Given the description of an element on the screen output the (x, y) to click on. 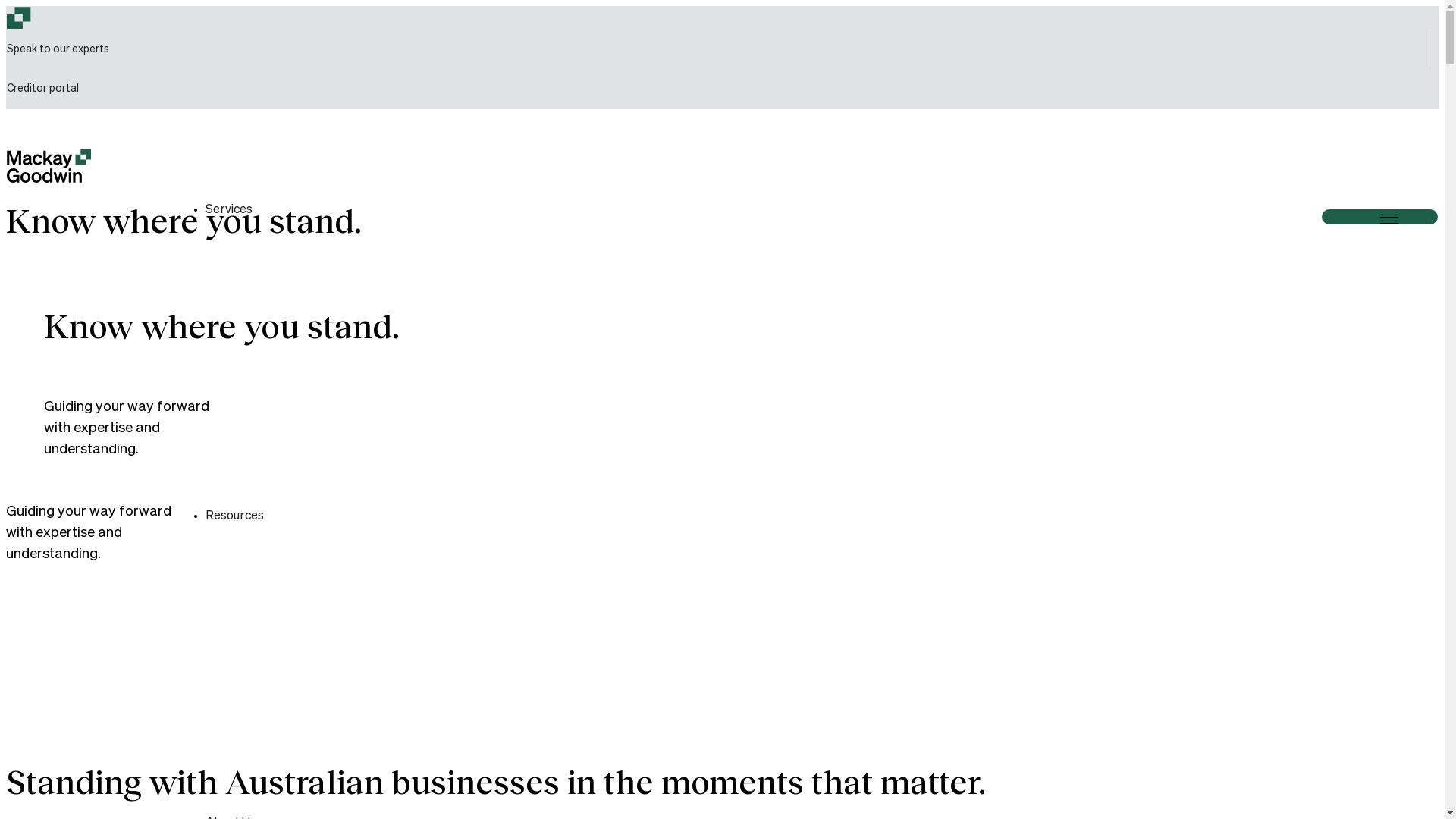
Speak to our experts Element type: text (57, 48)
Creditor portal Element type: text (46, 88)
Services Element type: text (227, 209)
Resources Element type: text (233, 516)
